Given the description of an element on the screen output the (x, y) to click on. 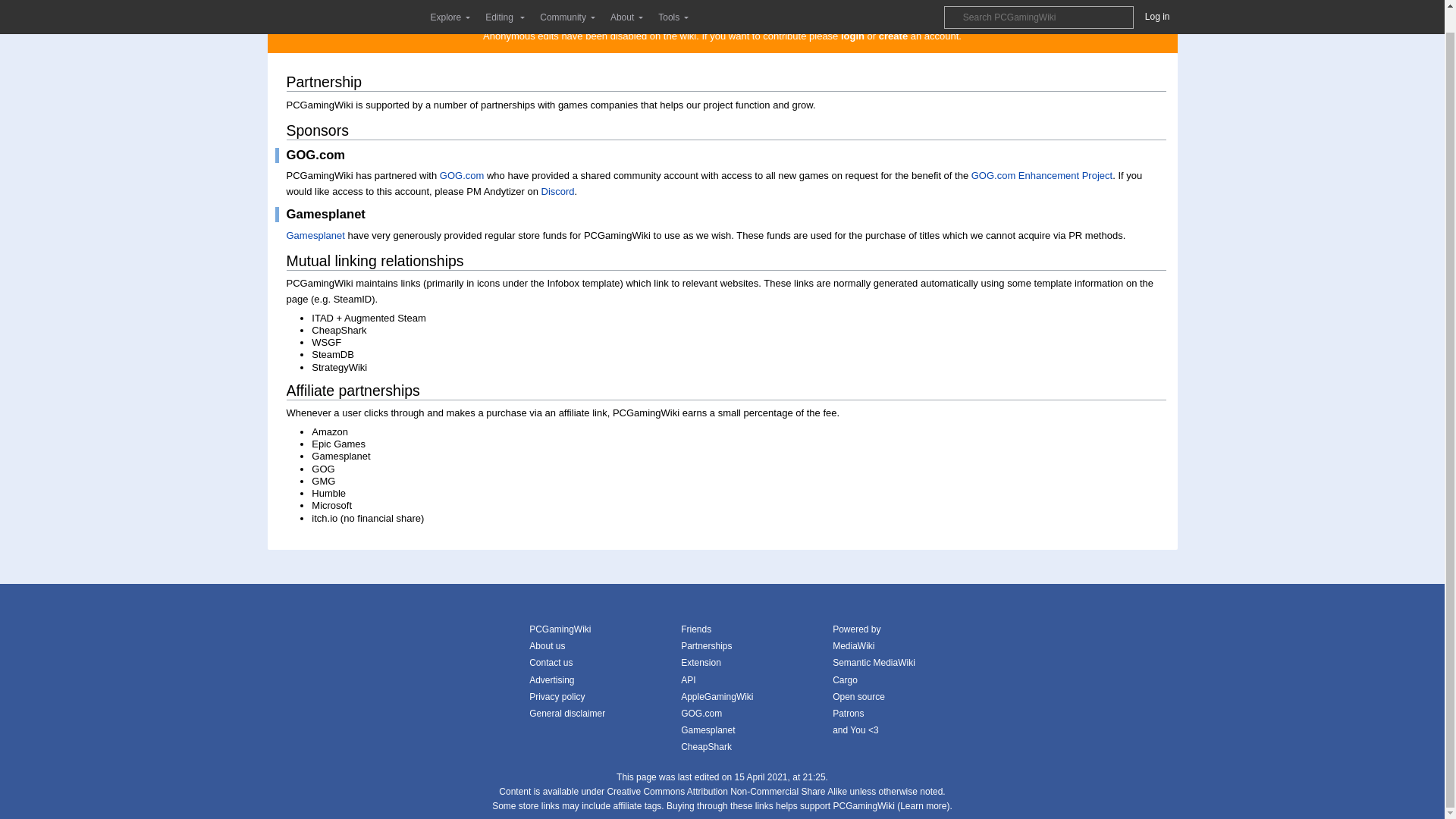
PCGamingWiki:Discord (558, 191)
login (852, 35)
PCGamingWiki:GOG.com Enhancement Project (1041, 174)
create (893, 35)
GOG.com (461, 174)
